Given the description of an element on the screen output the (x, y) to click on. 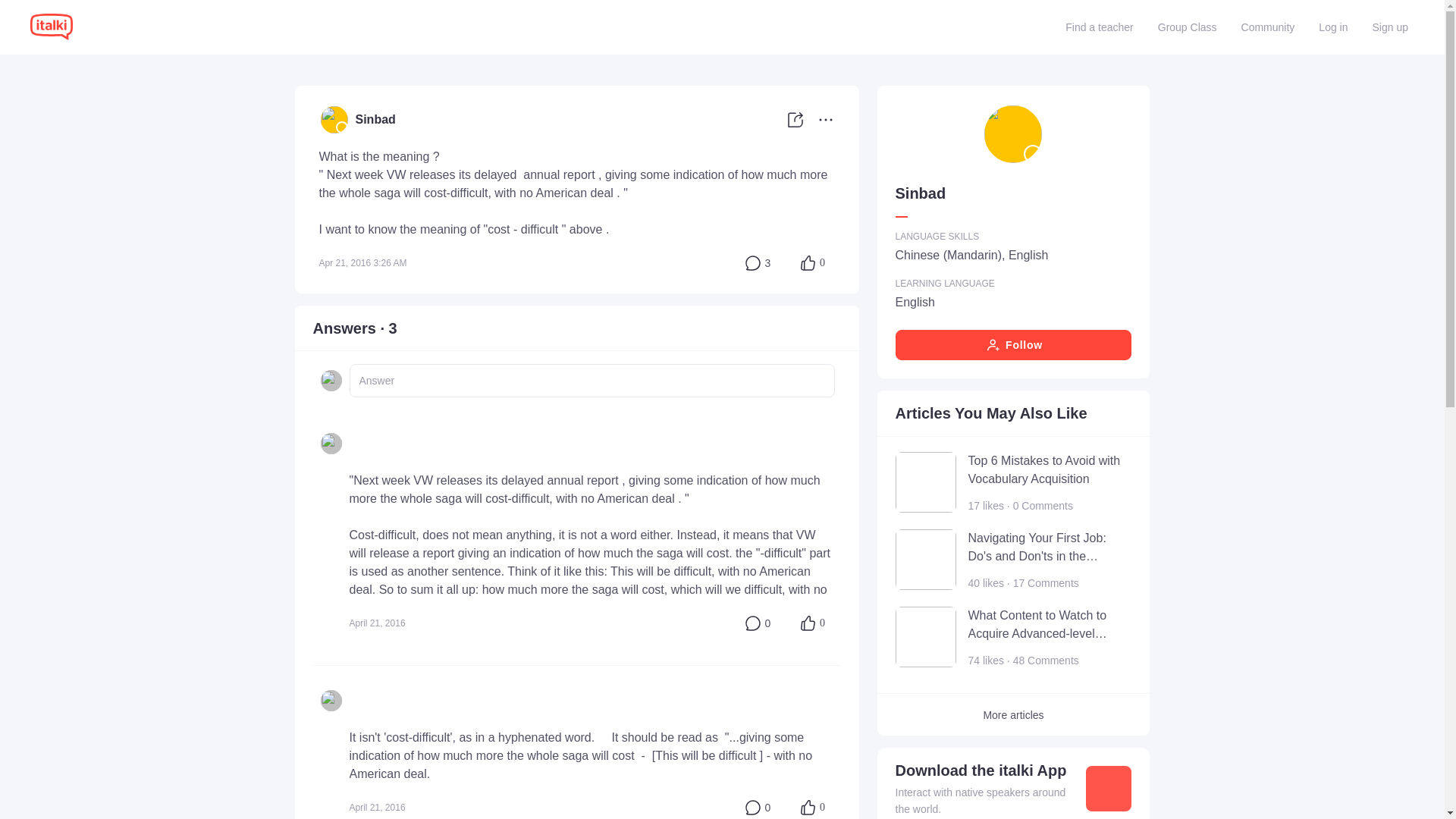
More articles (1013, 713)
Community (1267, 27)
Follow (1013, 345)
Find a teacher (1099, 27)
Group Class (1187, 27)
